Given the description of an element on the screen output the (x, y) to click on. 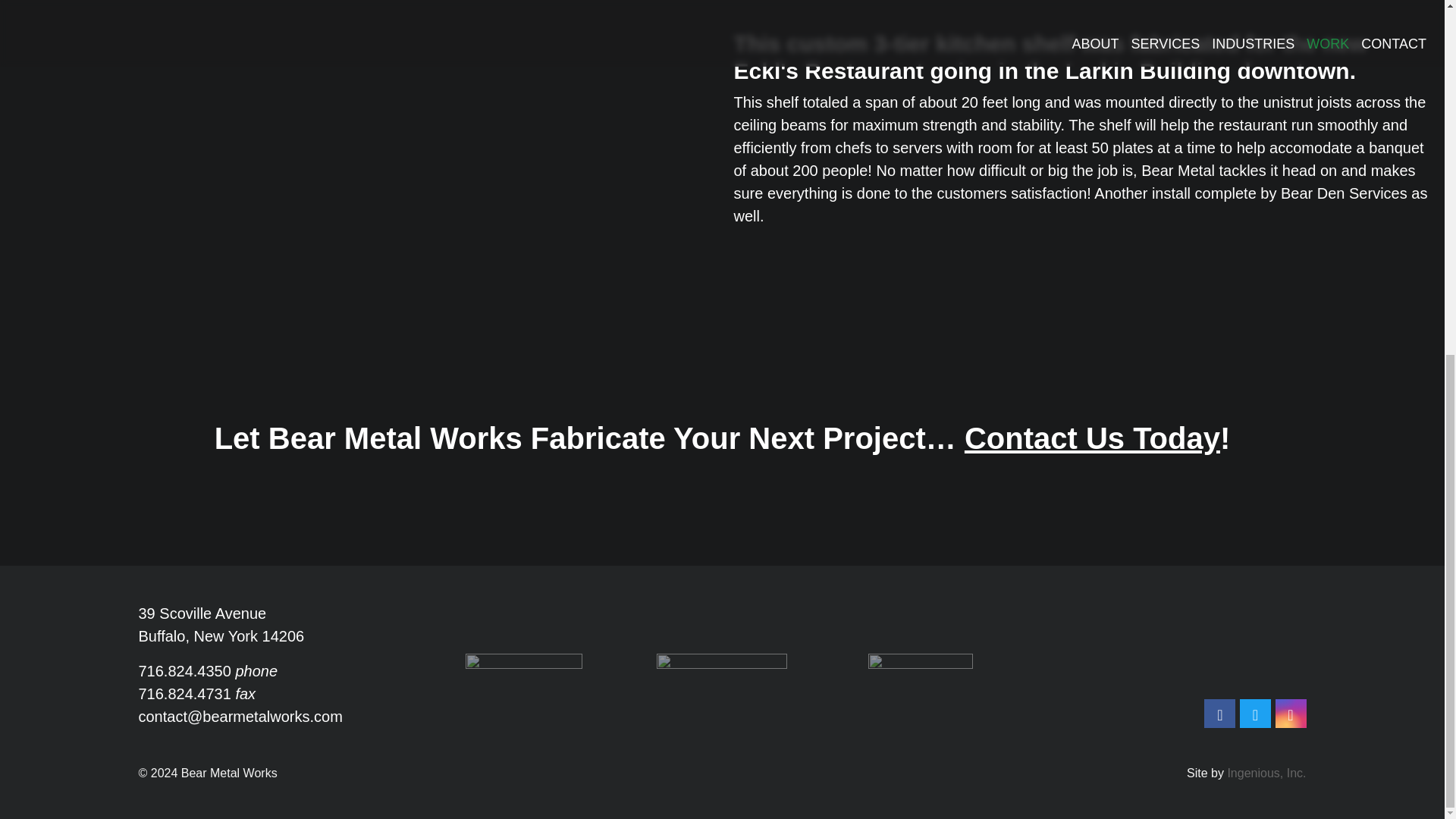
Contact Us Today (1091, 438)
716.824.4731 (184, 693)
Ingenious, Inc. (1266, 772)
716.824.4350 (184, 670)
